Given the description of an element on the screen output the (x, y) to click on. 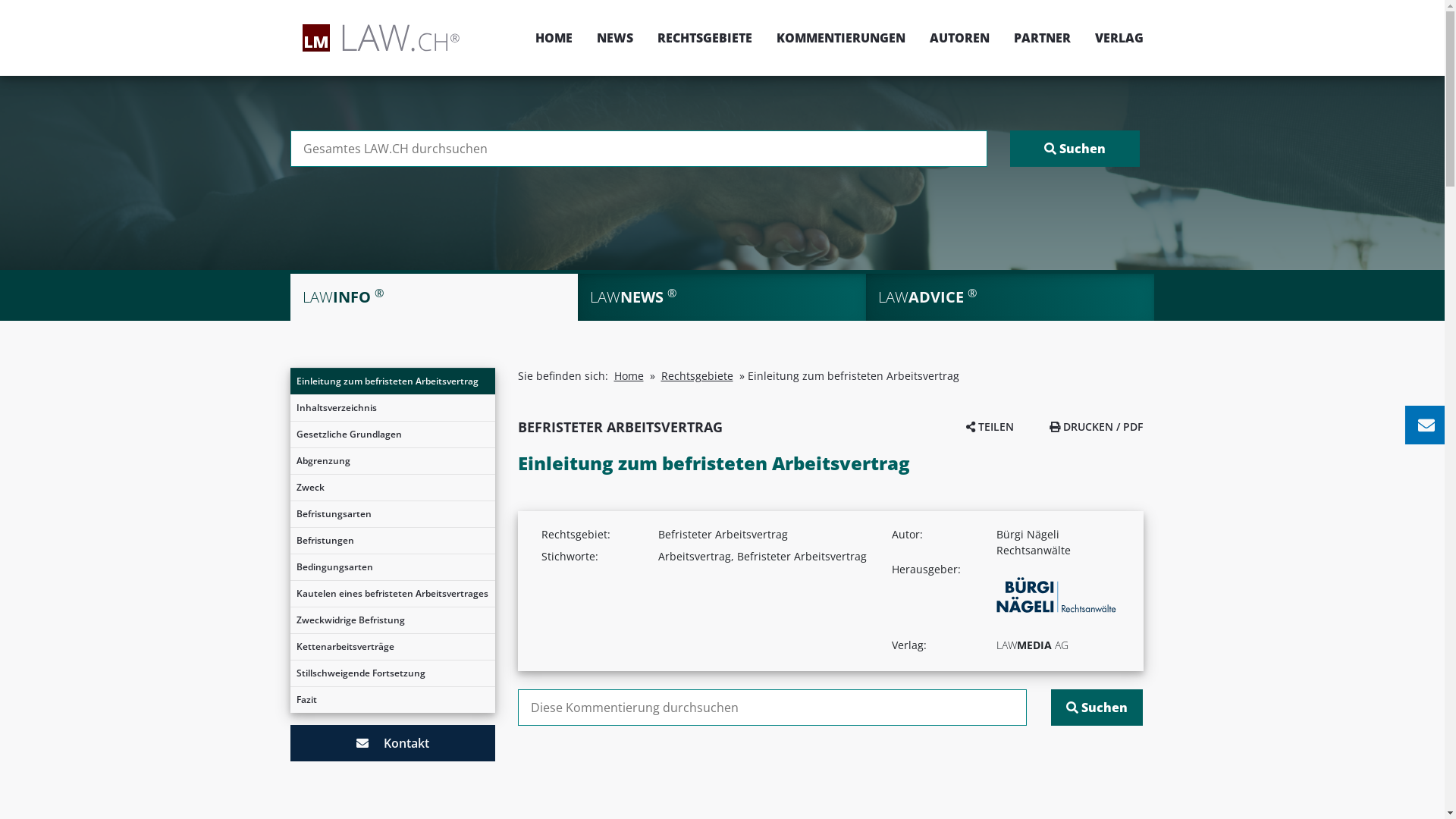
KOMMENTIERUNGEN Element type: text (840, 37)
Rechtsgebiete Element type: text (697, 375)
PARTNER Element type: text (1041, 37)
Suchen nach: Element type: hover (637, 148)
Zweck Element type: text (391, 487)
 DRUCKEN / PDF Element type: text (1095, 426)
    Kontakt Element type: text (391, 742)
 TEILEN Element type: text (989, 426)
Inhaltsverzeichnis Element type: text (391, 407)
Befristungsarten Element type: text (391, 514)
AUTOREN Element type: text (959, 37)
Suchen nach: Element type: hover (771, 707)
Abgrenzung Element type: text (391, 460)
RECHTSGEBIETE Element type: text (703, 37)
Stillschweigende Fortsetzung Element type: text (391, 673)
Einleitung zum befristeten Arbeitsvertrag Element type: text (391, 381)
VERLAG Element type: text (1112, 37)
Gesetzliche Grundlagen Element type: text (391, 434)
Fazit Element type: text (391, 699)
Zweckwidrige Befristung Element type: text (391, 620)
NEWS Element type: text (613, 37)
Kautelen eines befristeten Arbeitsvertrages Element type: text (391, 593)
Home Element type: text (628, 375)
HOME Element type: text (553, 37)
Befristungen Element type: text (391, 540)
Bedingungsarten Element type: text (391, 567)
